Given the description of an element on the screen output the (x, y) to click on. 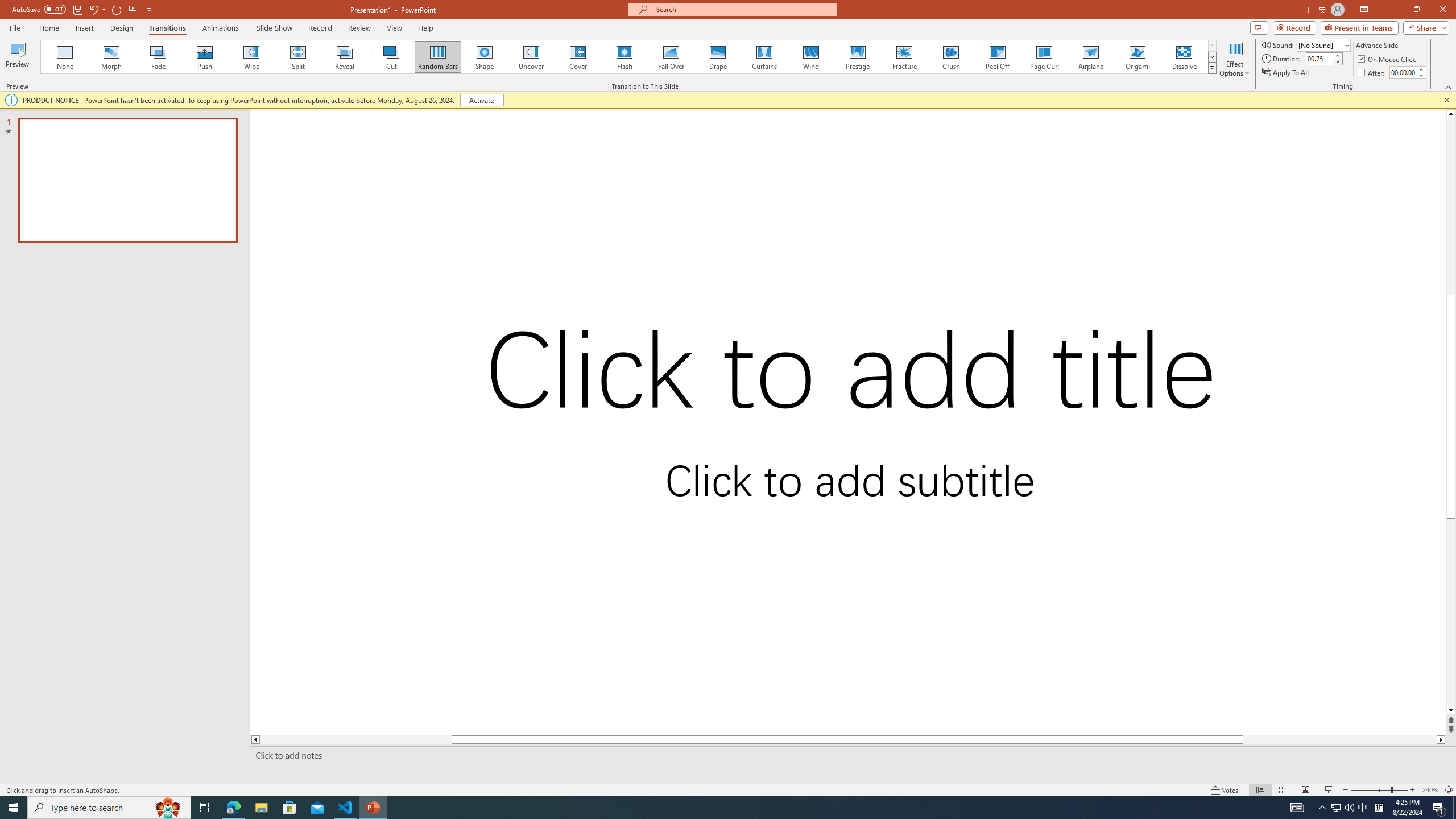
Crush (950, 56)
Fracture (903, 56)
Activate (481, 100)
Dissolve (1183, 56)
